Given the description of an element on the screen output the (x, y) to click on. 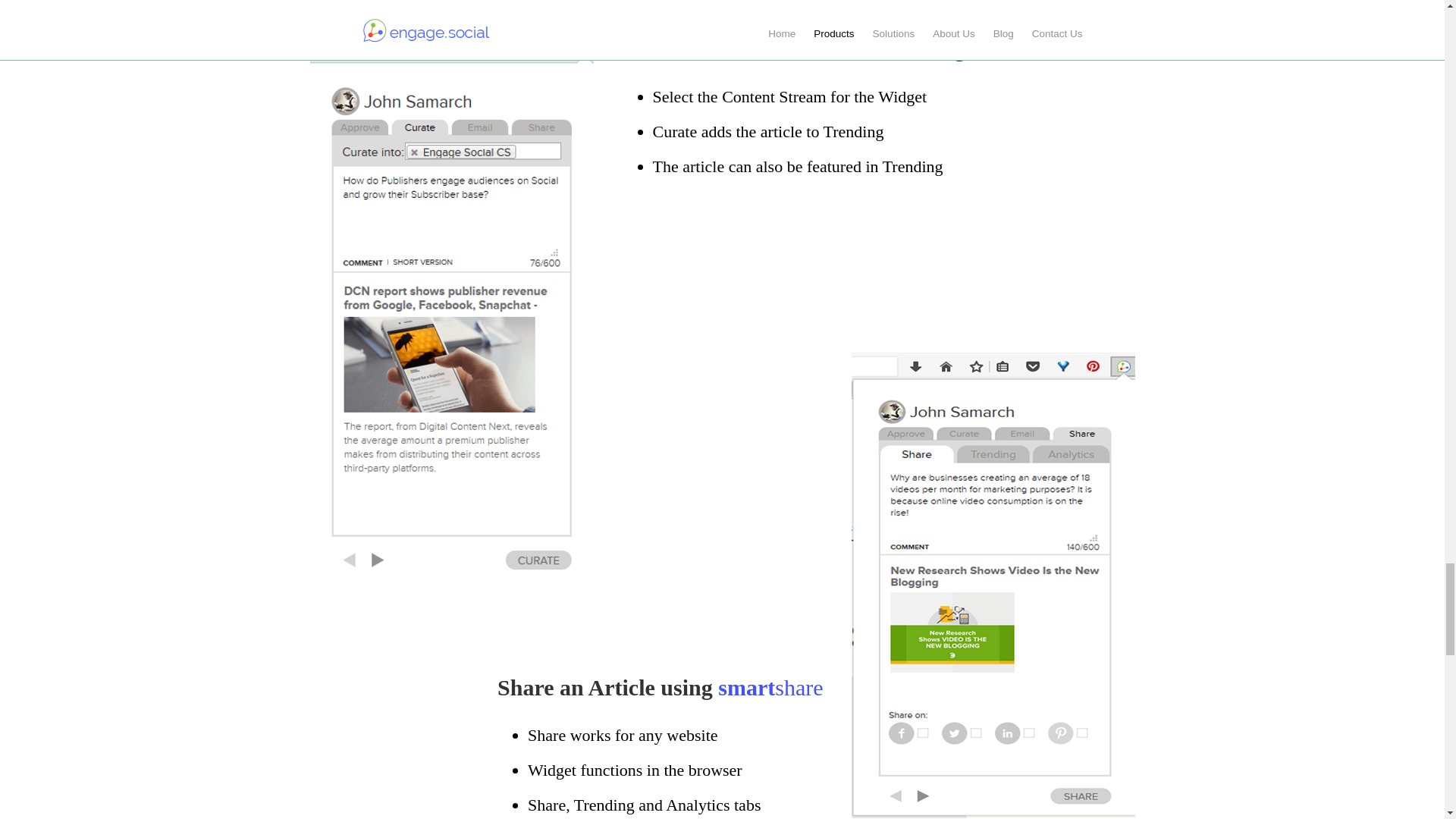
smartshare (769, 687)
